Given the description of an element on the screen output the (x, y) to click on. 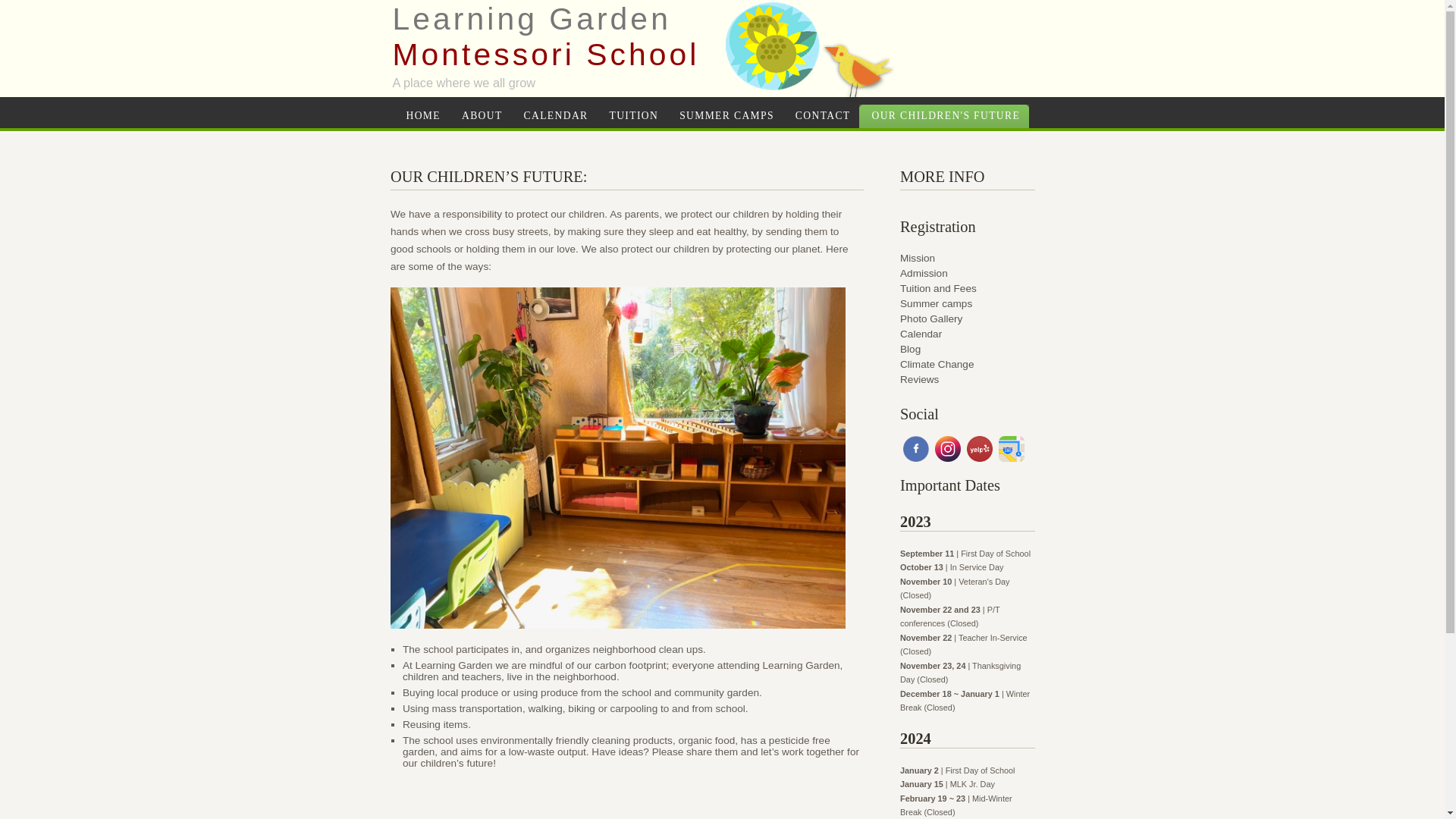
Mission (967, 255)
SUMMER CAMPS (727, 115)
CONTACT (823, 115)
Instagram (947, 449)
Calendar (967, 331)
TUITION (633, 115)
Climate Change (967, 362)
Facebook (915, 449)
Yelp (979, 449)
Photo Gallery (546, 36)
Blog (967, 316)
Admission (967, 346)
Map (967, 271)
OUR CHILDREN'S FUTURE (1011, 449)
